Given the description of an element on the screen output the (x, y) to click on. 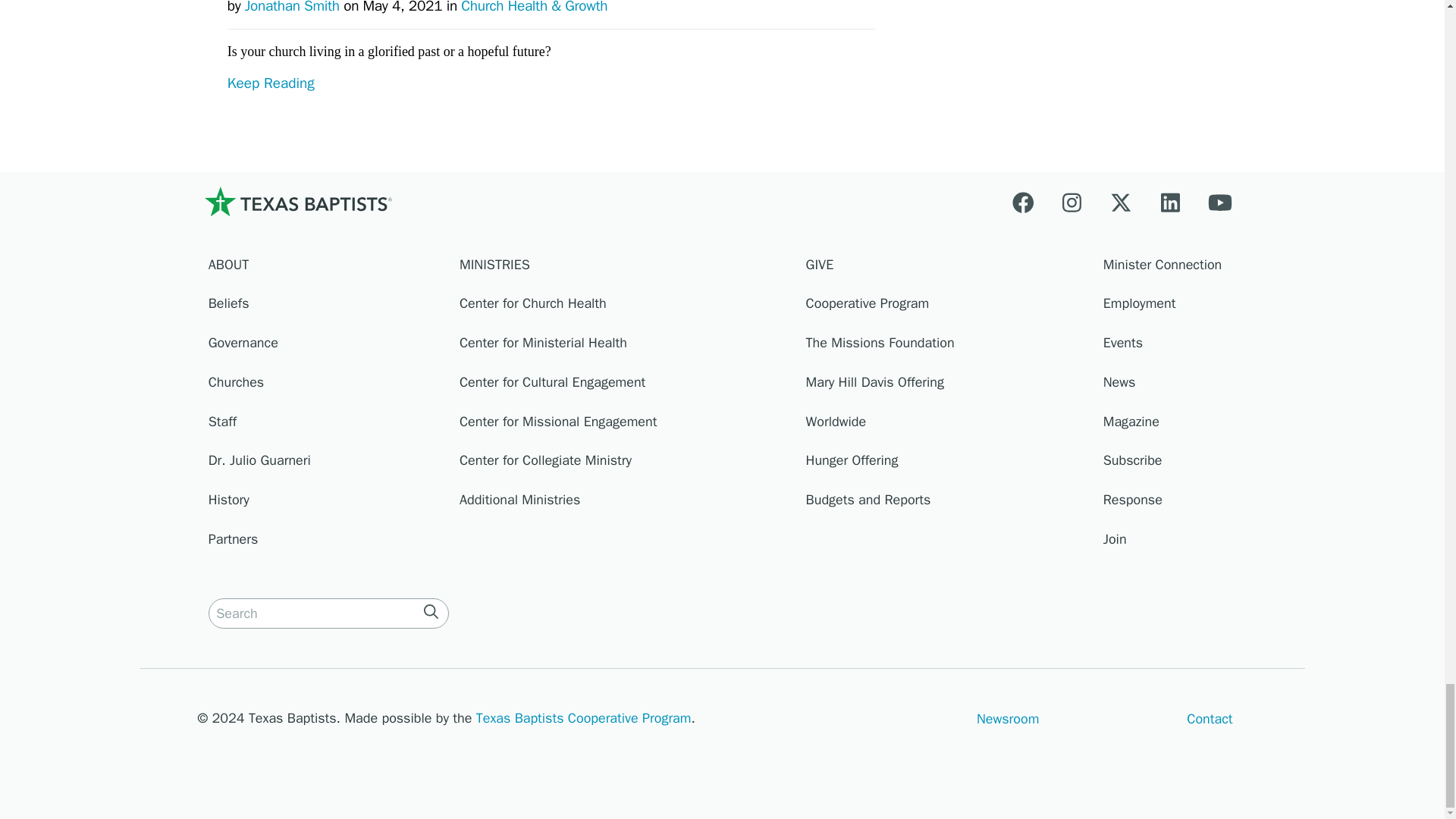
Home (297, 201)
Jonathan Smith (291, 7)
Keep Reading (551, 112)
